Given the description of an element on the screen output the (x, y) to click on. 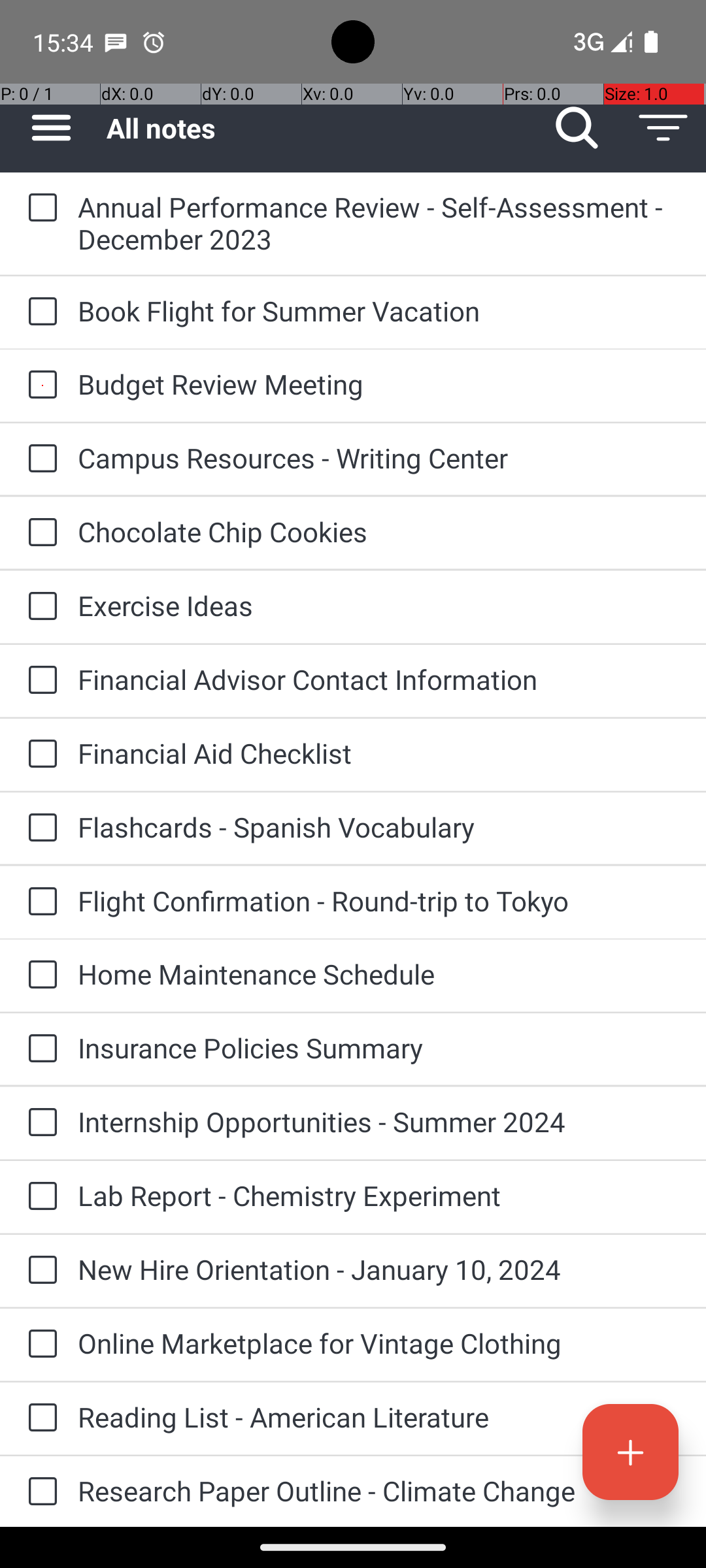
to-do: Book Flight for Summer Vacation Element type: android.widget.CheckBox (38, 312)
Book Flight for Summer Vacation Element type: android.widget.TextView (378, 310)
to-do: Budget Review Meeting Element type: android.widget.CheckBox (38, 385)
Budget Review Meeting Element type: android.widget.TextView (378, 383)
to-do: Campus Resources - Writing Center Element type: android.widget.CheckBox (38, 459)
Campus Resources - Writing Center Element type: android.widget.TextView (378, 457)
to-do: Chocolate Chip Cookies Element type: android.widget.CheckBox (38, 533)
Chocolate Chip Cookies Element type: android.widget.TextView (378, 531)
to-do: Exercise Ideas Element type: android.widget.CheckBox (38, 606)
Exercise Ideas Element type: android.widget.TextView (378, 604)
to-do: Financial Aid Checklist Element type: android.widget.CheckBox (38, 754)
Financial Aid Checklist Element type: android.widget.TextView (378, 752)
to-do: Flashcards - Spanish Vocabulary Element type: android.widget.CheckBox (38, 828)
Flashcards - Spanish Vocabulary Element type: android.widget.TextView (378, 826)
to-do: Flight Confirmation - Round-trip to Tokyo Element type: android.widget.CheckBox (38, 902)
Flight Confirmation - Round-trip to Tokyo Element type: android.widget.TextView (378, 900)
to-do: Home Maintenance Schedule Element type: android.widget.CheckBox (38, 975)
Home Maintenance Schedule Element type: android.widget.TextView (378, 973)
to-do: Insurance Policies Summary Element type: android.widget.CheckBox (38, 1049)
Insurance Policies Summary Element type: android.widget.TextView (378, 1047)
to-do: Internship Opportunities - Summer 2024 Element type: android.widget.CheckBox (38, 1123)
Internship Opportunities - Summer 2024 Element type: android.widget.TextView (378, 1121)
to-do: Lab Report - Chemistry Experiment Element type: android.widget.CheckBox (38, 1196)
Lab Report - Chemistry Experiment Element type: android.widget.TextView (378, 1194)
to-do: New Hire Orientation - January 10, 2024 Element type: android.widget.CheckBox (38, 1270)
New Hire Orientation - January 10, 2024 Element type: android.widget.TextView (378, 1268)
to-do: Reading List - American Literature Element type: android.widget.CheckBox (38, 1418)
Reading List - American Literature Element type: android.widget.TextView (378, 1416)
to-do: Research Paper Outline - Climate Change Element type: android.widget.CheckBox (38, 1491)
Research Paper Outline - Climate Change Element type: android.widget.TextView (378, 1490)
